Given the description of an element on the screen output the (x, y) to click on. 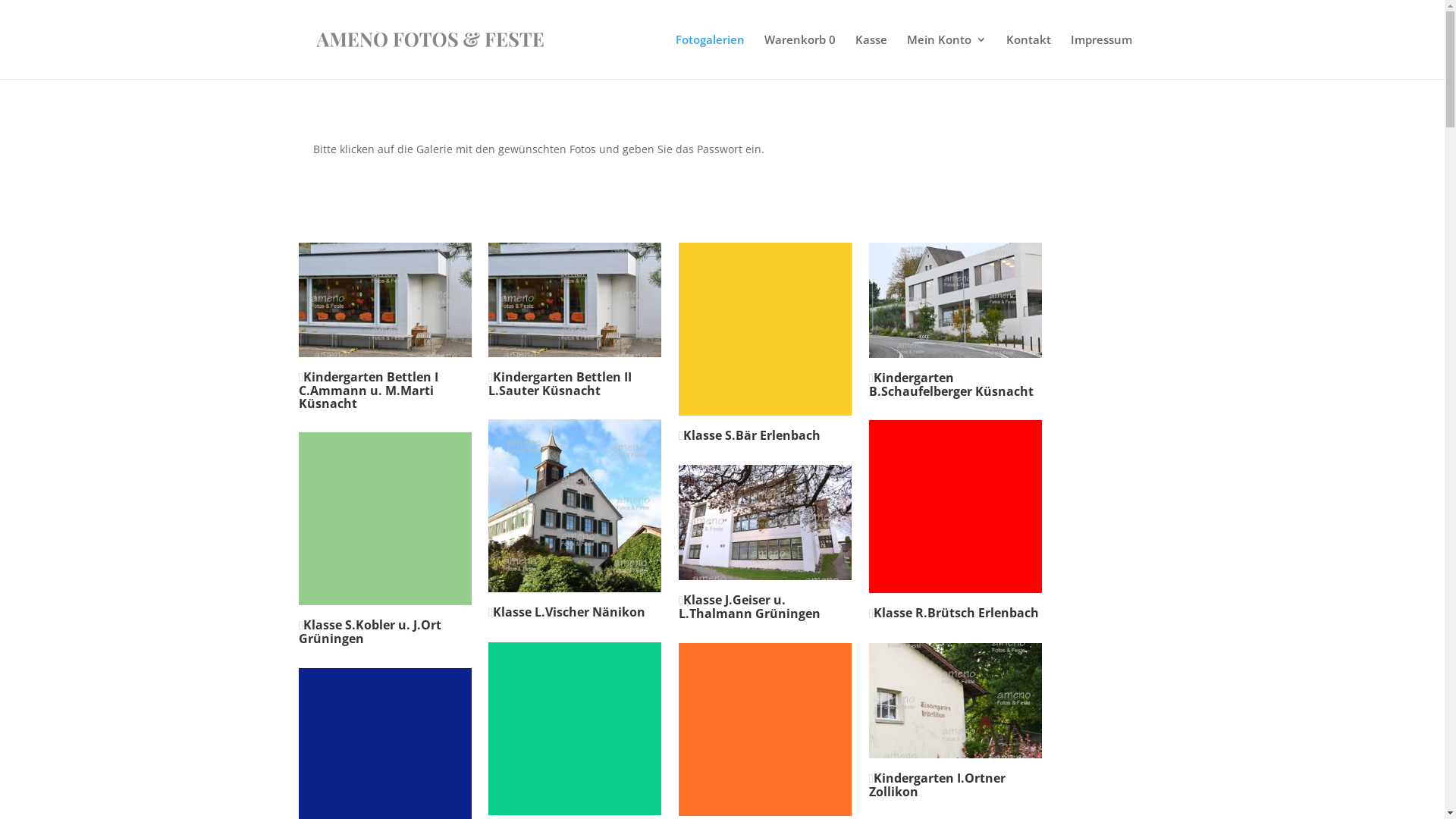
Fotogalerien Element type: text (708, 56)
Kontakt Element type: text (1027, 56)
Impressum Element type: text (1101, 56)
Mein Konto Element type: text (946, 56)
Kasse Element type: text (871, 56)
Kindergarten I.Ortner Zollikon Element type: text (937, 784)
Warenkorb 0 Element type: text (799, 56)
